Given the description of an element on the screen output the (x, y) to click on. 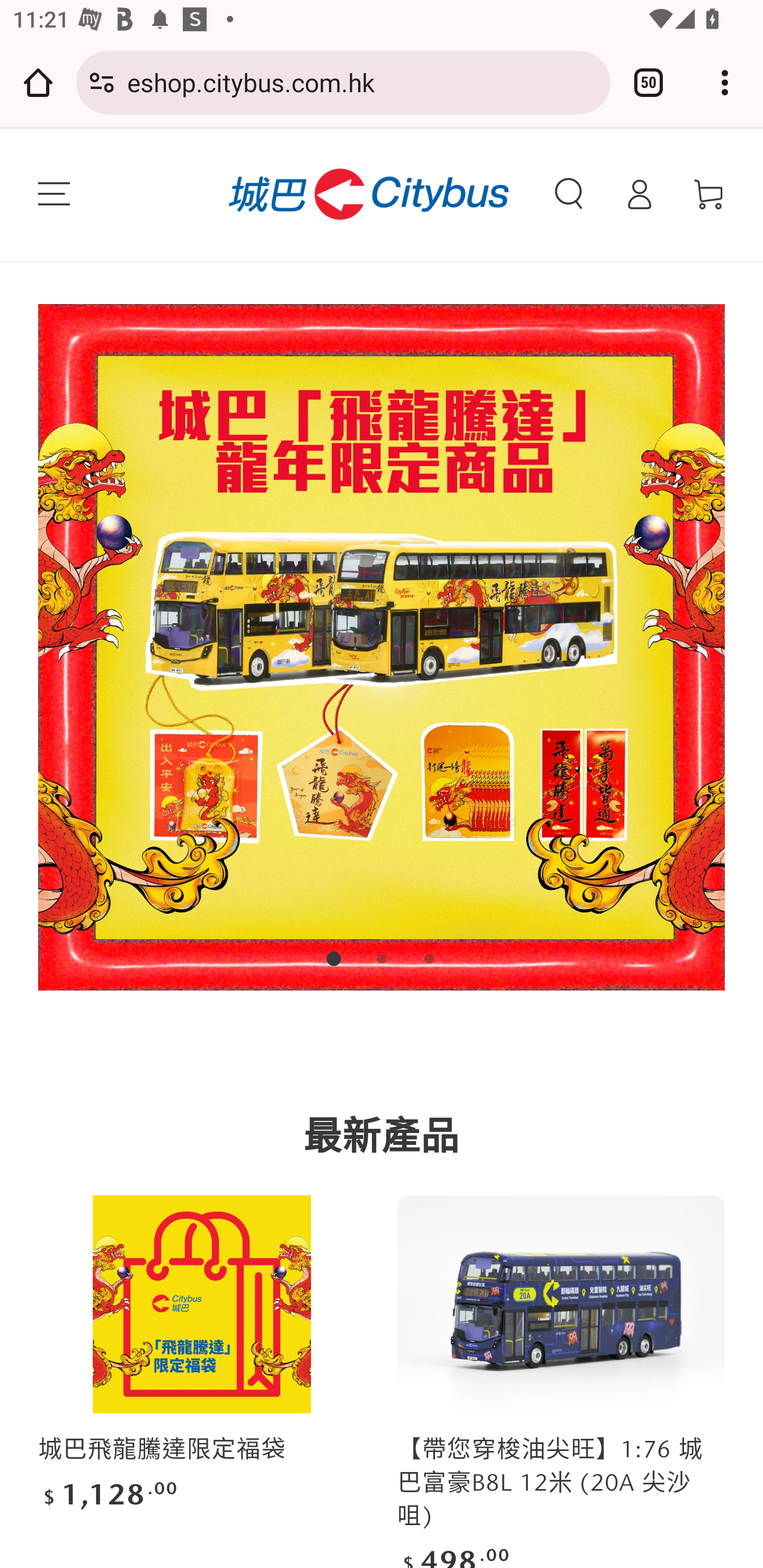
Open the home page (38, 82)
Connection is secure (101, 82)
Switch or close tabs (648, 82)
Customize and control Google Chrome (724, 82)
eshop.citybus.com.hk (362, 82)
菜單 (54, 194)
搜索我們的網站 (569, 194)
登錄 (638, 194)
購物車 (708, 194)
  (381, 647)
View slide 1 (333, 958)
View slide 2 (381, 958)
View slide 3 (429, 958)
城巴飛龍騰達限定福袋 城巴飛龍騰達限定福袋 城巴飛龍騰達限定福袋 城巴飛龍騰達限定福袋 (201, 1304)
城巴飛龍騰達限定福袋 (162, 1449)
【帶您穿梭油尖旺】1:76 城巴富豪B8L 12米 (20A 尖沙咀) (550, 1483)
